Given the description of an element on the screen output the (x, y) to click on. 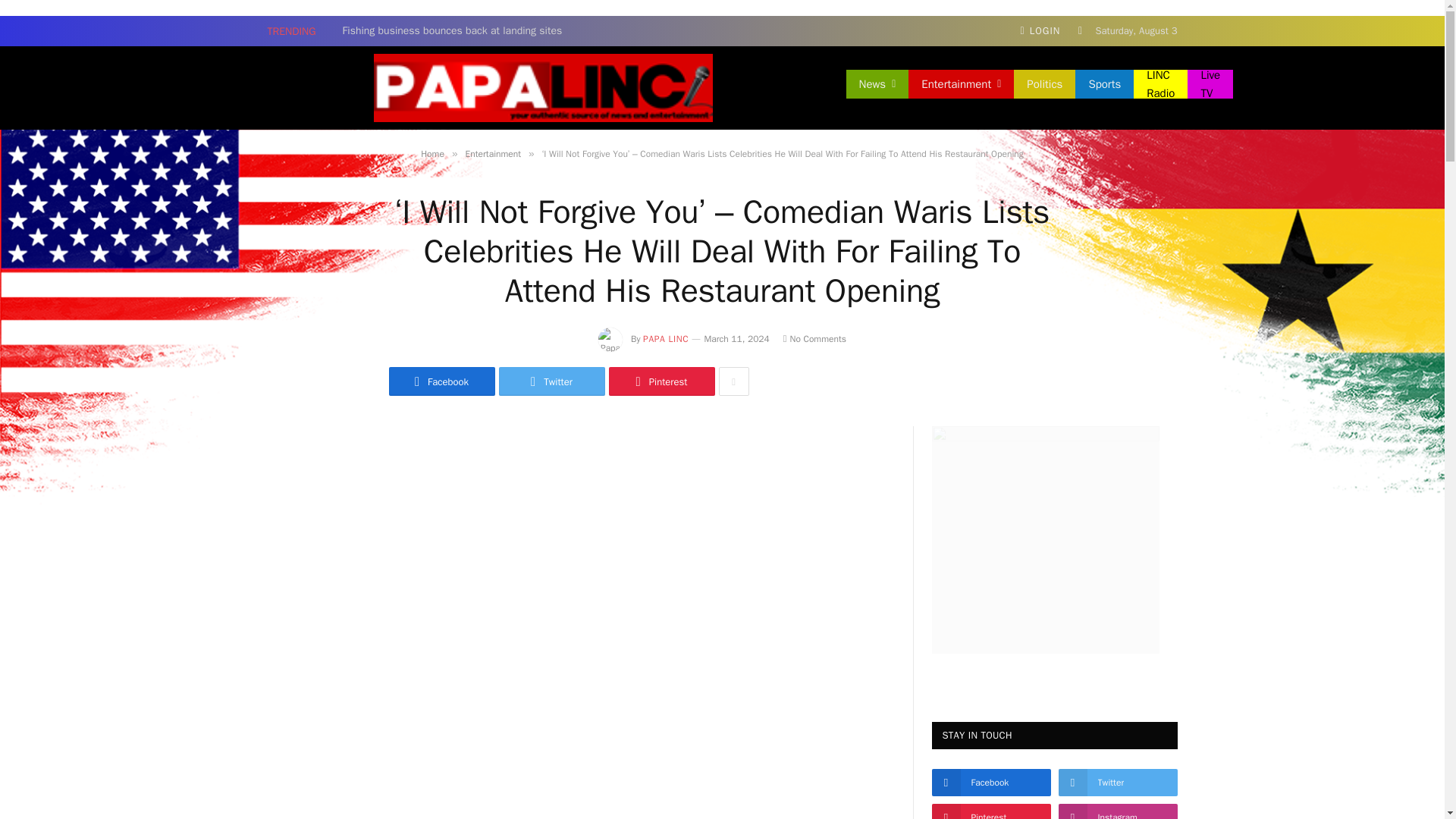
Live TV (1210, 84)
Share on Facebook (441, 380)
MC PAPA LINC (542, 87)
Entertainment (960, 84)
Share on Pinterest (661, 380)
Switch to Dark Design - easier on eyes. (1079, 30)
Posts by Papa Linc (665, 338)
News (876, 84)
Fishing business bounces back at landing sites (456, 30)
LINC Radio (1161, 84)
